Given the description of an element on the screen output the (x, y) to click on. 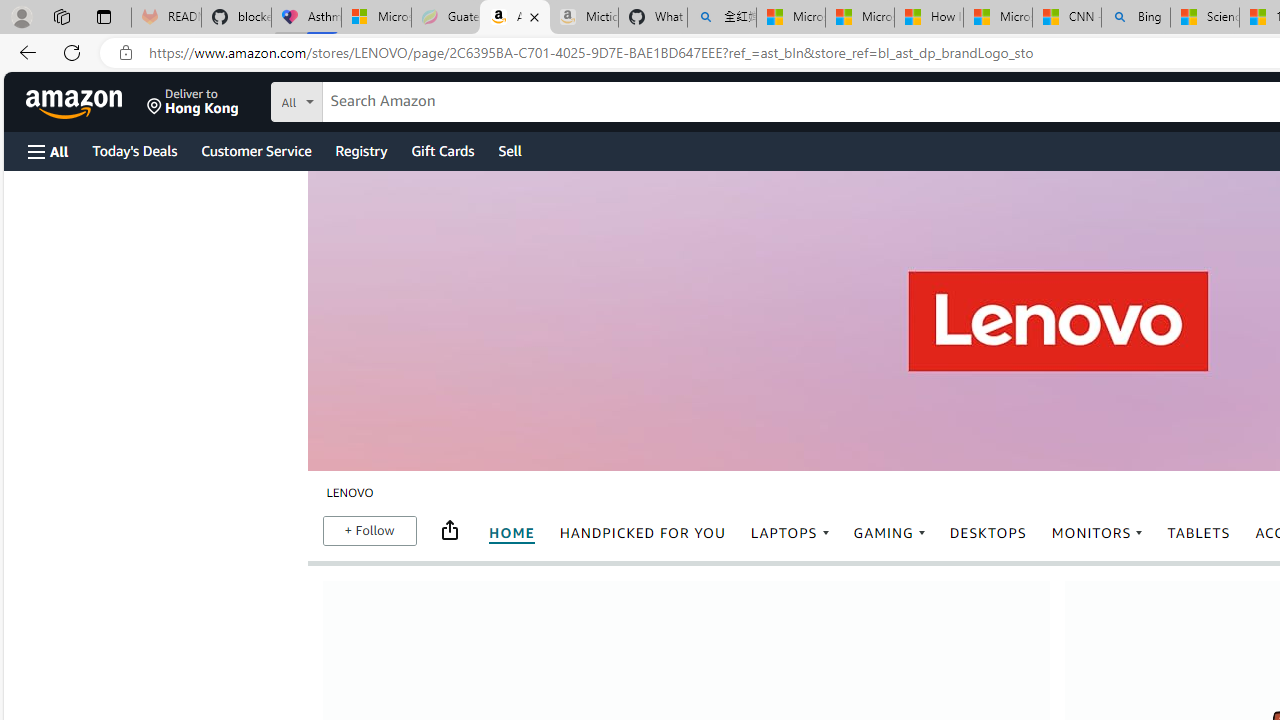
Amazon.com: LENOVO (515, 17)
LENOVO (349, 492)
LAPTOPS (790, 534)
TABLETS (1198, 534)
MONITORS (1096, 533)
